Given the description of an element on the screen output the (x, y) to click on. 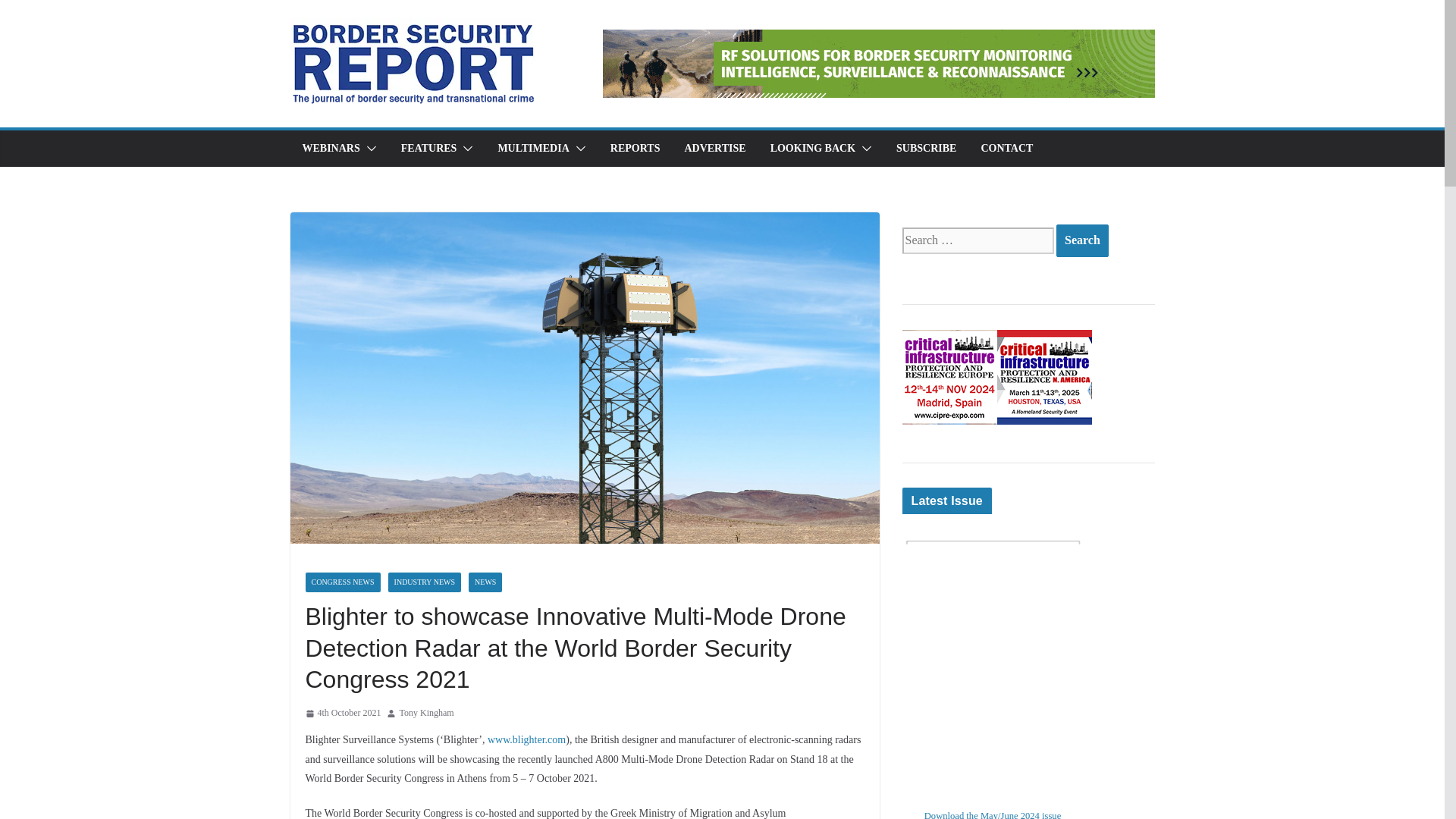
Tony Kingham (425, 713)
LOOKING BACK (813, 148)
CONGRESS NEWS (342, 582)
WEBINARS (330, 148)
NEWS (485, 582)
MULTIMEDIA (533, 148)
Search (1082, 240)
4th October 2021 (342, 713)
11:08 am (342, 713)
INDUSTRY NEWS (424, 582)
CONTACT (1005, 148)
Search (1082, 240)
ADVERTISE (714, 148)
FEATURES (429, 148)
SUBSCRIBE (926, 148)
